Given the description of an element on the screen output the (x, y) to click on. 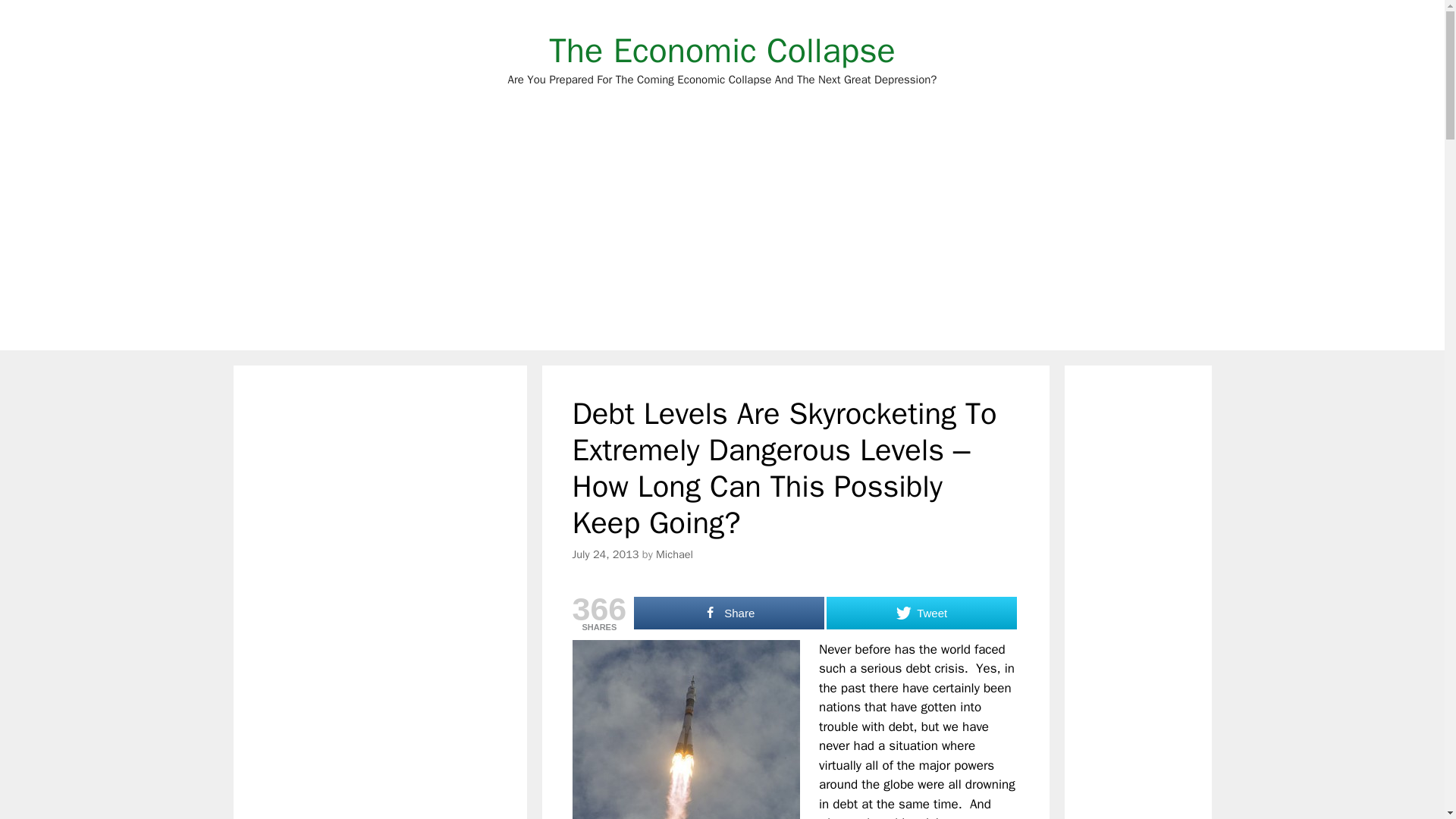
View all posts by Michael (674, 554)
The Economic Collapse (721, 50)
Share (728, 613)
3:40 pm (605, 554)
Skip to content (721, 50)
Michael (605, 554)
